Given the description of an element on the screen output the (x, y) to click on. 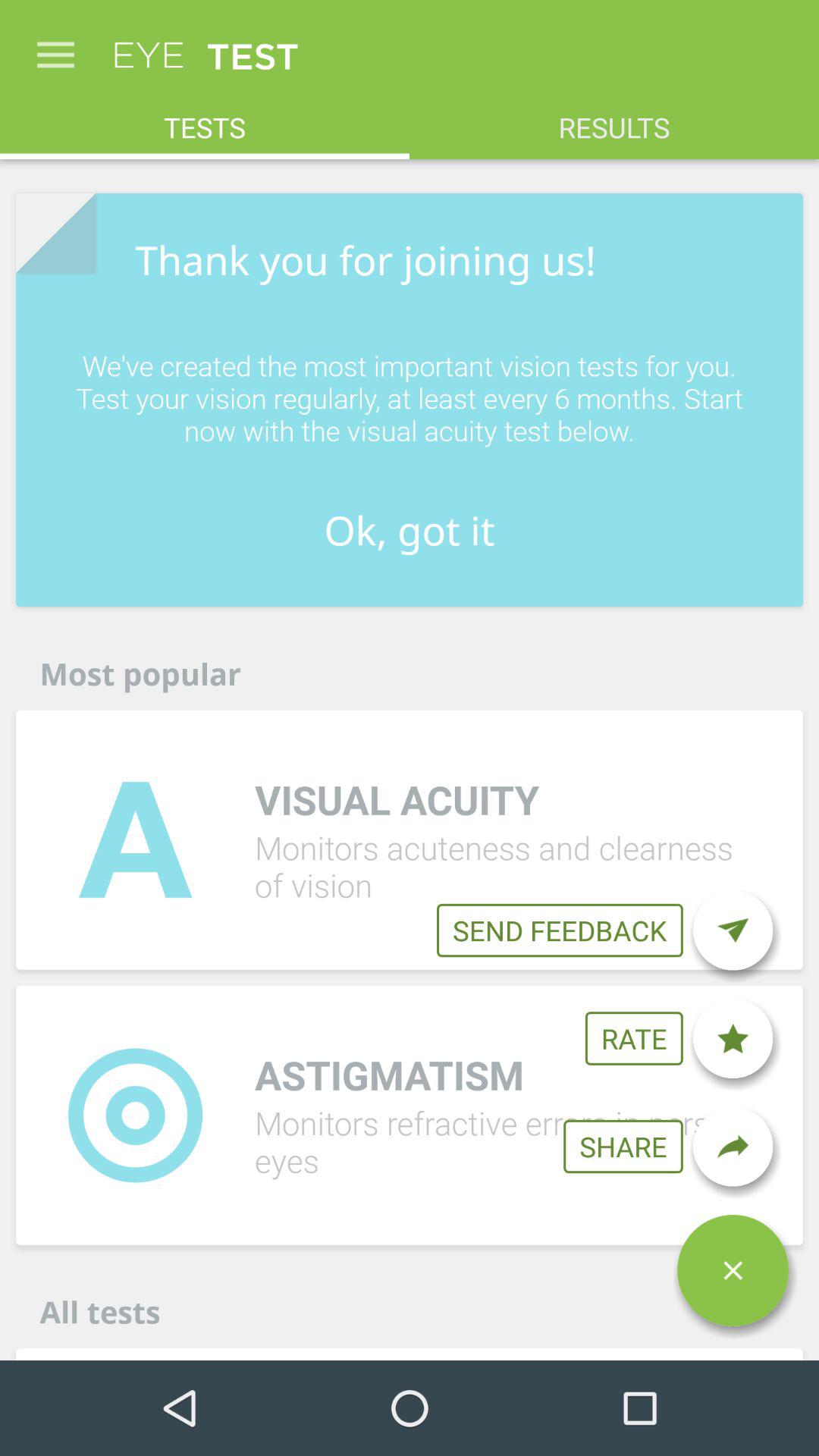
turn on icon below the we ve created item (733, 930)
